Given the description of an element on the screen output the (x, y) to click on. 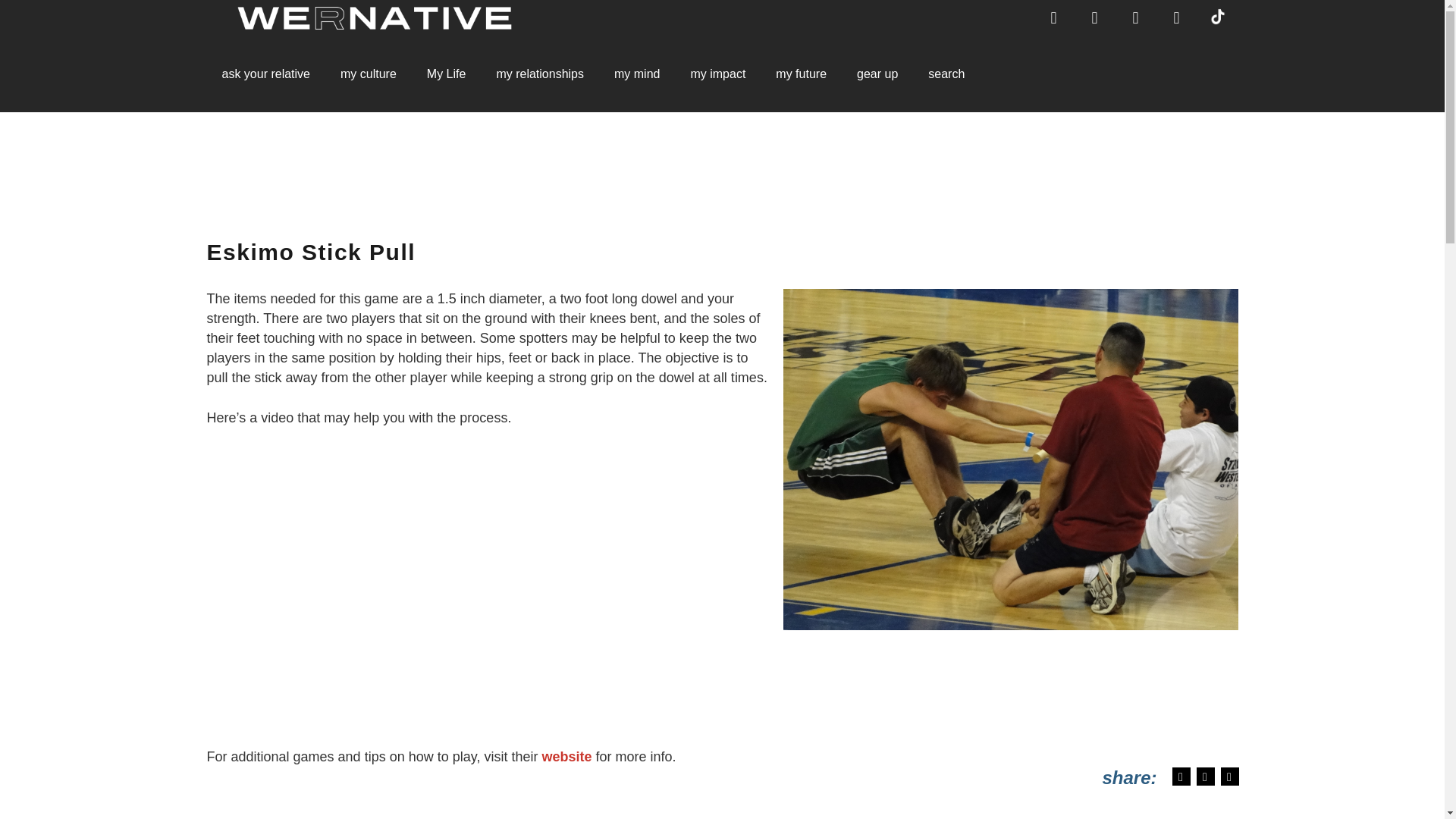
instagram (1176, 17)
youtube (1135, 17)
tiktok (1217, 15)
my culture (368, 74)
facebook (1053, 17)
My Life (446, 74)
tiktok (1217, 27)
facebook (1054, 17)
youtube (1135, 17)
ask your relative (265, 74)
twitter (1093, 17)
twitter (1094, 17)
instagram (1176, 17)
